Given the description of an element on the screen output the (x, y) to click on. 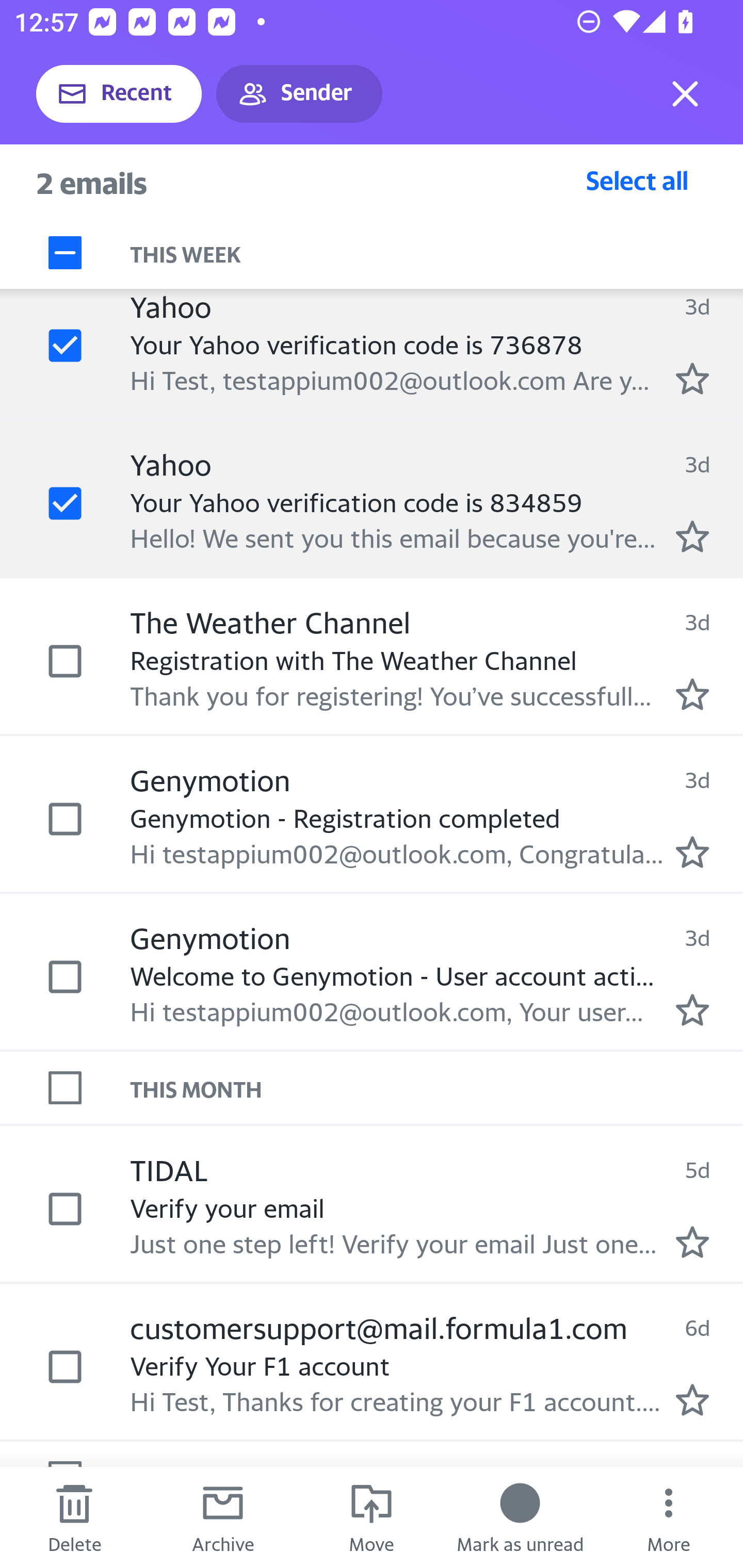
Sender (299, 93)
Exit selection mode (684, 93)
Select all (637, 180)
Mark as starred. (692, 378)
Mark as starred. (692, 537)
Mark as starred. (692, 693)
Mark as starred. (692, 852)
Mark as starred. (692, 1010)
THIS MONTH (436, 1087)
Mark as starred. (692, 1242)
Mark as starred. (692, 1399)
Delete (74, 1517)
Archive (222, 1517)
Move (371, 1517)
Mark as unread (519, 1517)
More (668, 1517)
